Given the description of an element on the screen output the (x, y) to click on. 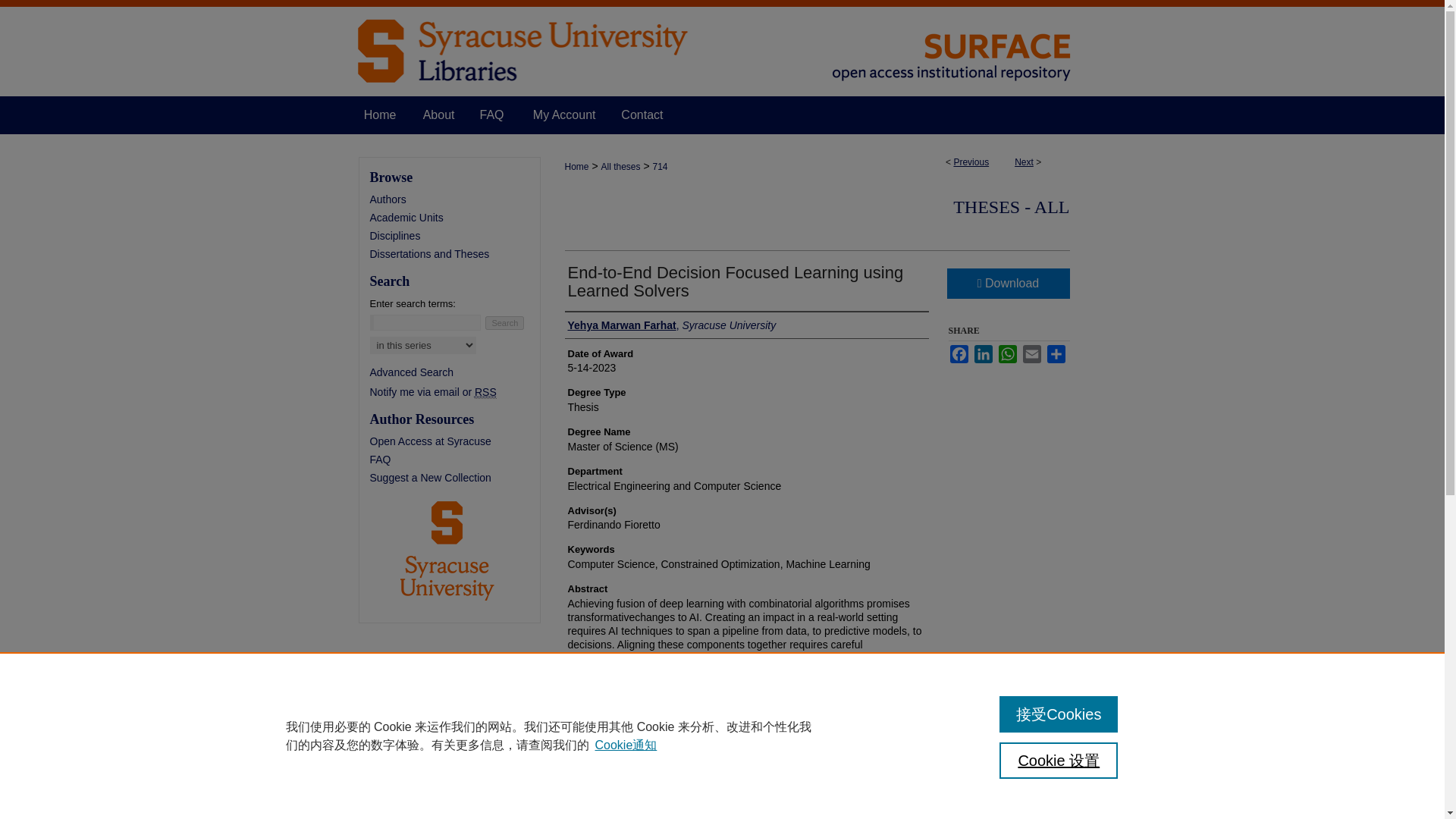
SURFACE at Syracuse University (721, 48)
My Account (564, 115)
Academic Units (454, 217)
Search (504, 323)
Dissertations and Theses (454, 254)
My Account (564, 115)
Next (1023, 162)
Yehya Marwan Farhat, Syracuse University (671, 325)
Disciplines (454, 235)
Home (576, 166)
Download (1007, 283)
Notify me via email or RSS (454, 391)
End-to-End Decision Focused Learning using Learned Solvers (734, 281)
714 (659, 166)
Email (1031, 353)
